Given the description of an element on the screen output the (x, y) to click on. 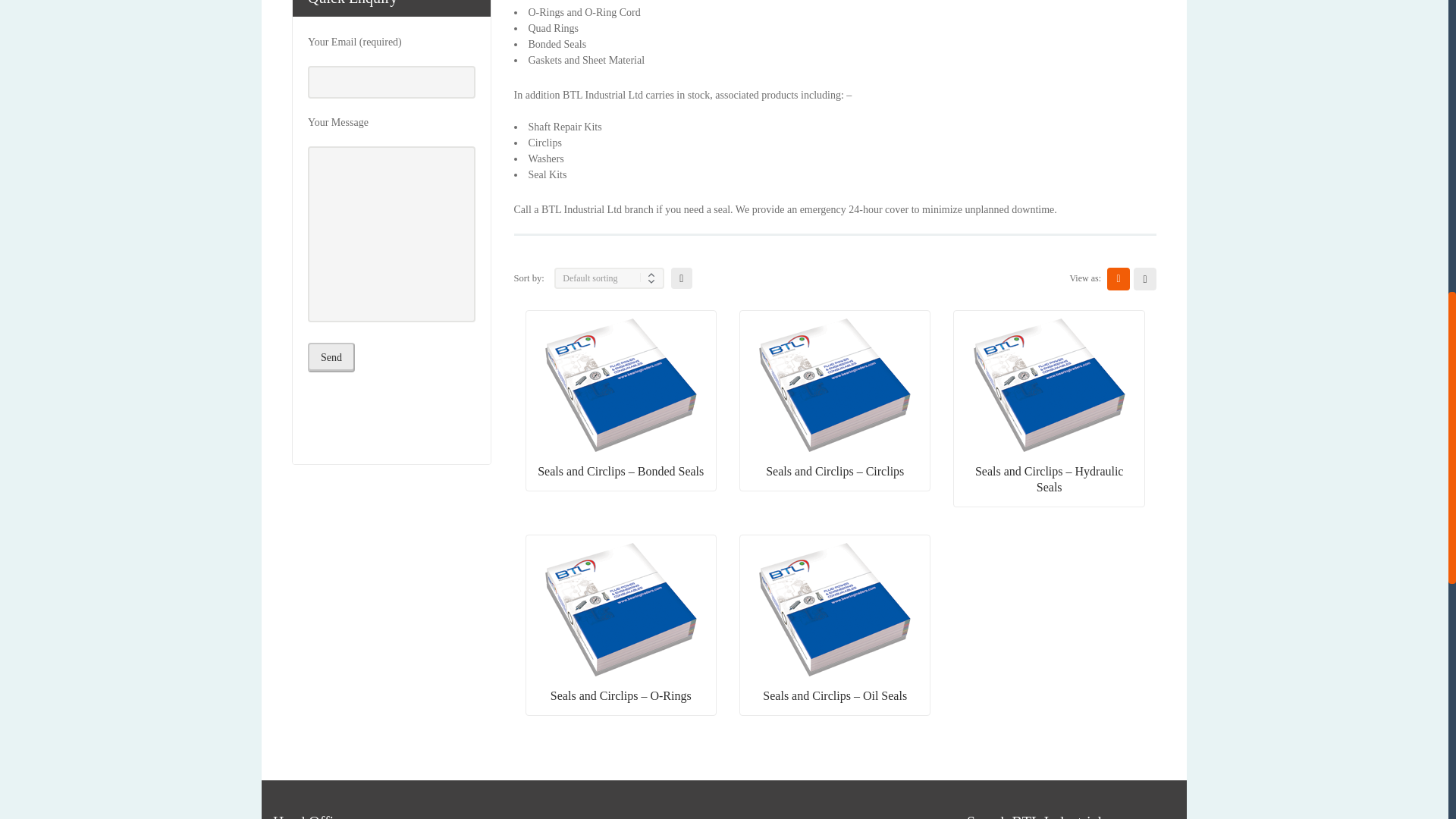
Send (331, 357)
Send (331, 357)
Switch to grid view (1117, 278)
Grid (1117, 278)
List (1145, 278)
Click to order products (682, 278)
Switch to list view (1145, 278)
